Given the description of an element on the screen output the (x, y) to click on. 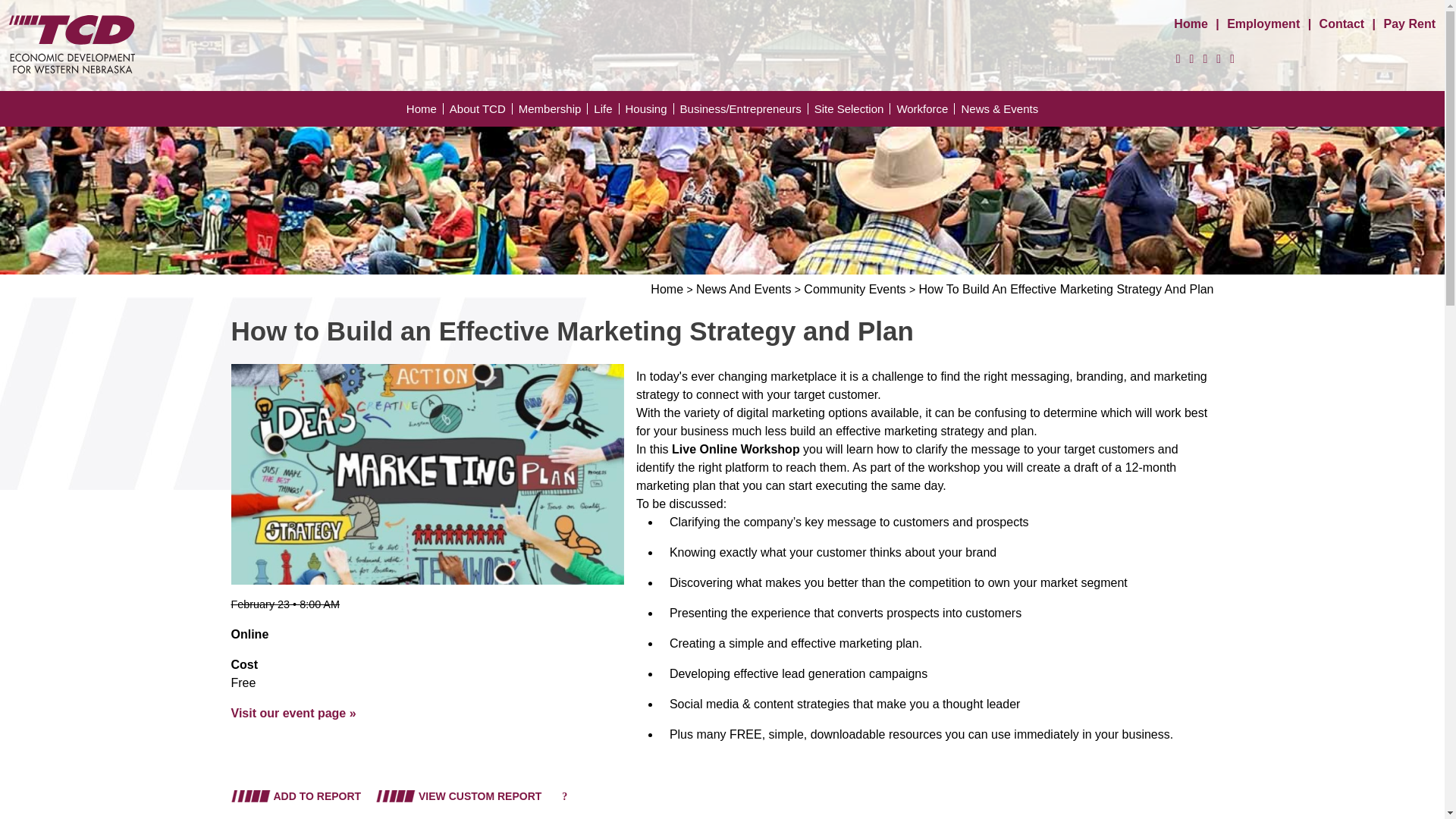
About TCD (478, 108)
Membership (550, 108)
Home (422, 108)
Pay Rent (1409, 23)
Home (1190, 23)
Housing (645, 108)
How To Use The Report Maker (564, 796)
Contact (1342, 23)
Life (603, 108)
Employment (1263, 23)
